Given the description of an element on the screen output the (x, y) to click on. 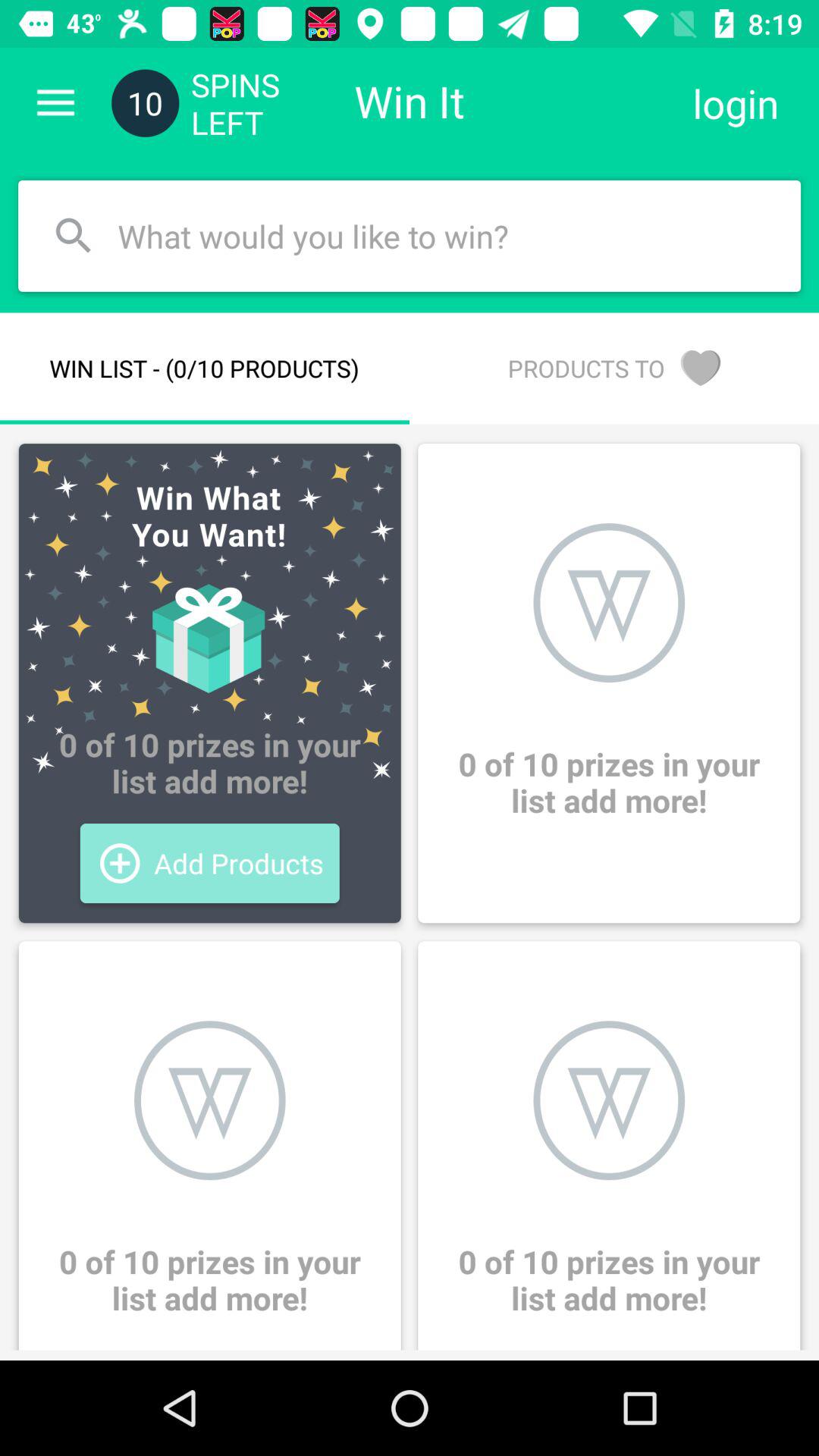
press item next to win it item (735, 102)
